Given the description of an element on the screen output the (x, y) to click on. 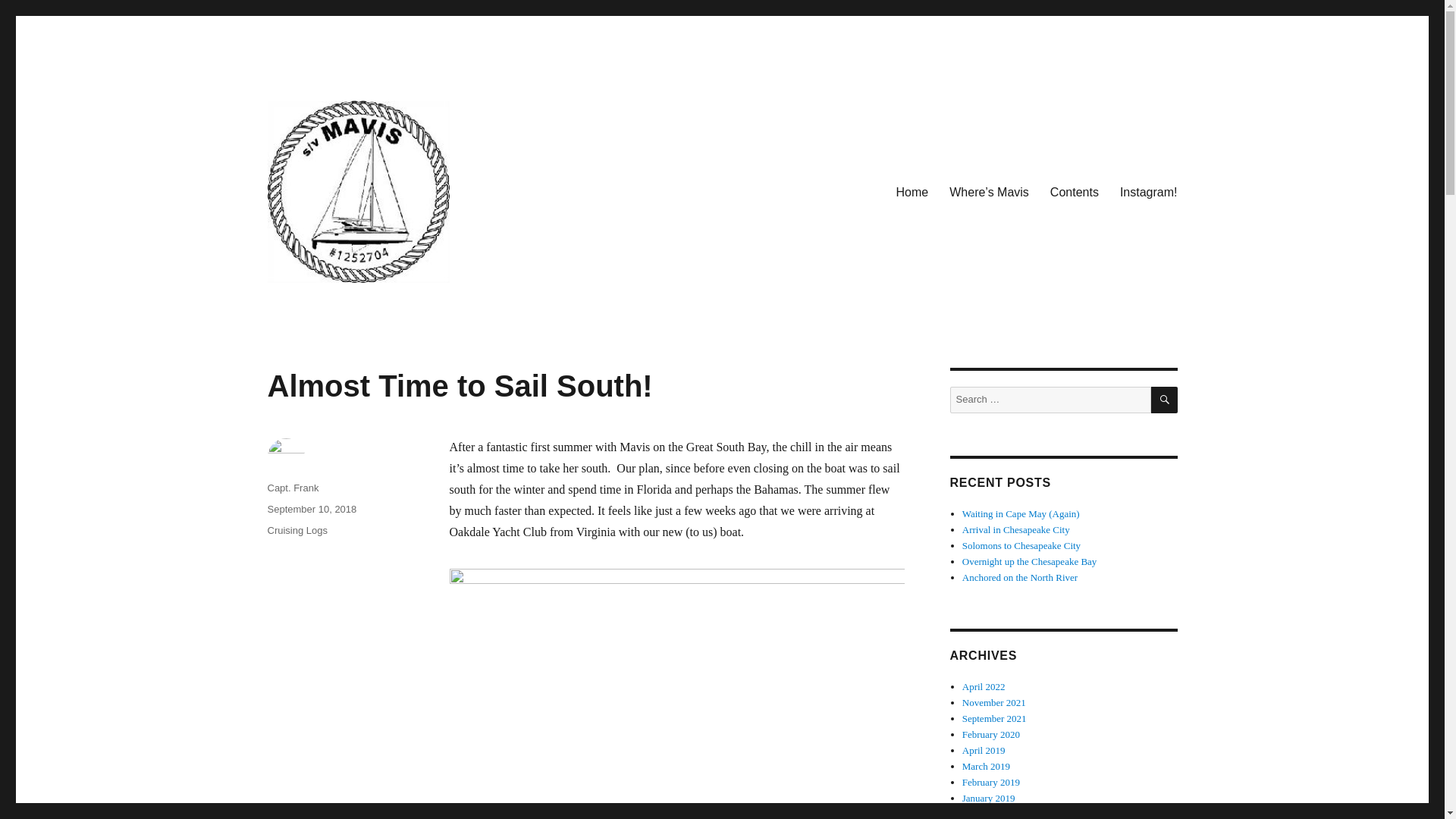
March 2019 (986, 766)
Instagram! (1148, 192)
Arrival in Chesapeake City (1016, 529)
April 2022 (984, 686)
Solomons to Chesapeake City (1021, 545)
Sailing Mavis (333, 306)
November 2021 (994, 702)
Home (912, 192)
Anchored on the North River (1019, 577)
January 2019 (988, 797)
